Given the description of an element on the screen output the (x, y) to click on. 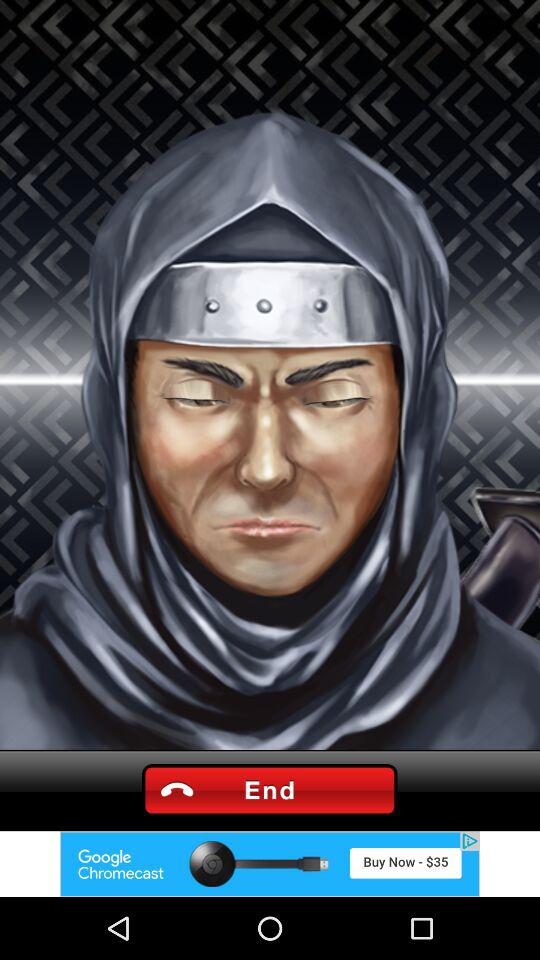
end buttn (269, 790)
